Given the description of an element on the screen output the (x, y) to click on. 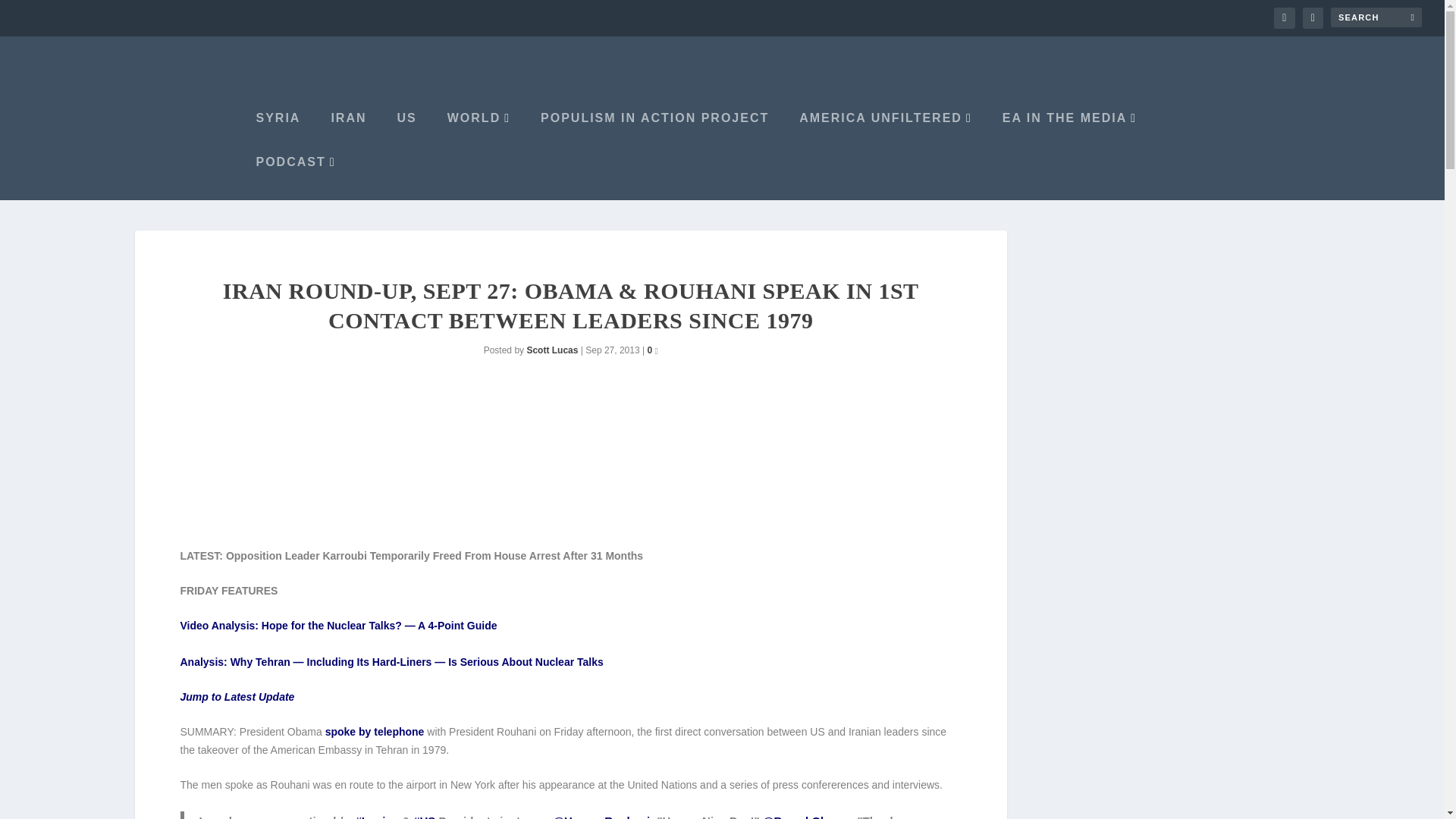
spoke by telephone (374, 731)
IRAN (344, 134)
Jump to Latest Update (237, 696)
AMERICA UNFILTERED (882, 134)
Posts by Scott Lucas (551, 348)
0 (652, 348)
EA IN THE MEDIA (1065, 134)
PODCAST (292, 177)
POPULISM IN ACTION PROJECT (650, 134)
Scott Lucas (551, 348)
